Given the description of an element on the screen output the (x, y) to click on. 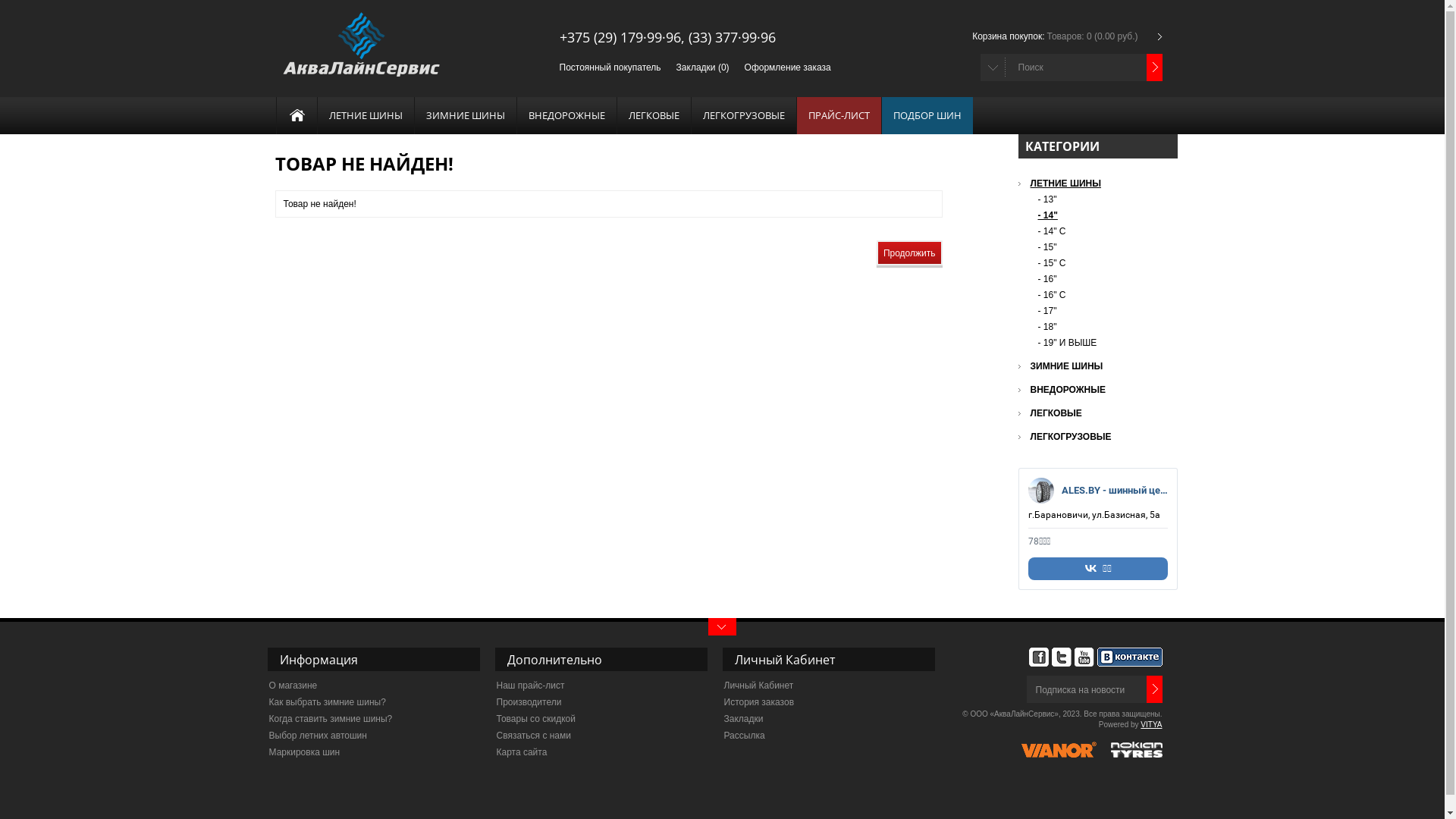
- 16" C Element type: text (1102, 294)
- 13" Element type: text (1102, 199)
see more Element type: hover (722, 626)
- 14" Element type: text (1102, 215)
- 14" C Element type: text (1102, 231)
- 18" Element type: text (1102, 326)
- 17" Element type: text (1102, 310)
VITYA Element type: text (1150, 724)
- 15" C Element type: text (1102, 263)
- 16" Element type: text (1102, 279)
- 15" Element type: text (1102, 247)
